Given the description of an element on the screen output the (x, y) to click on. 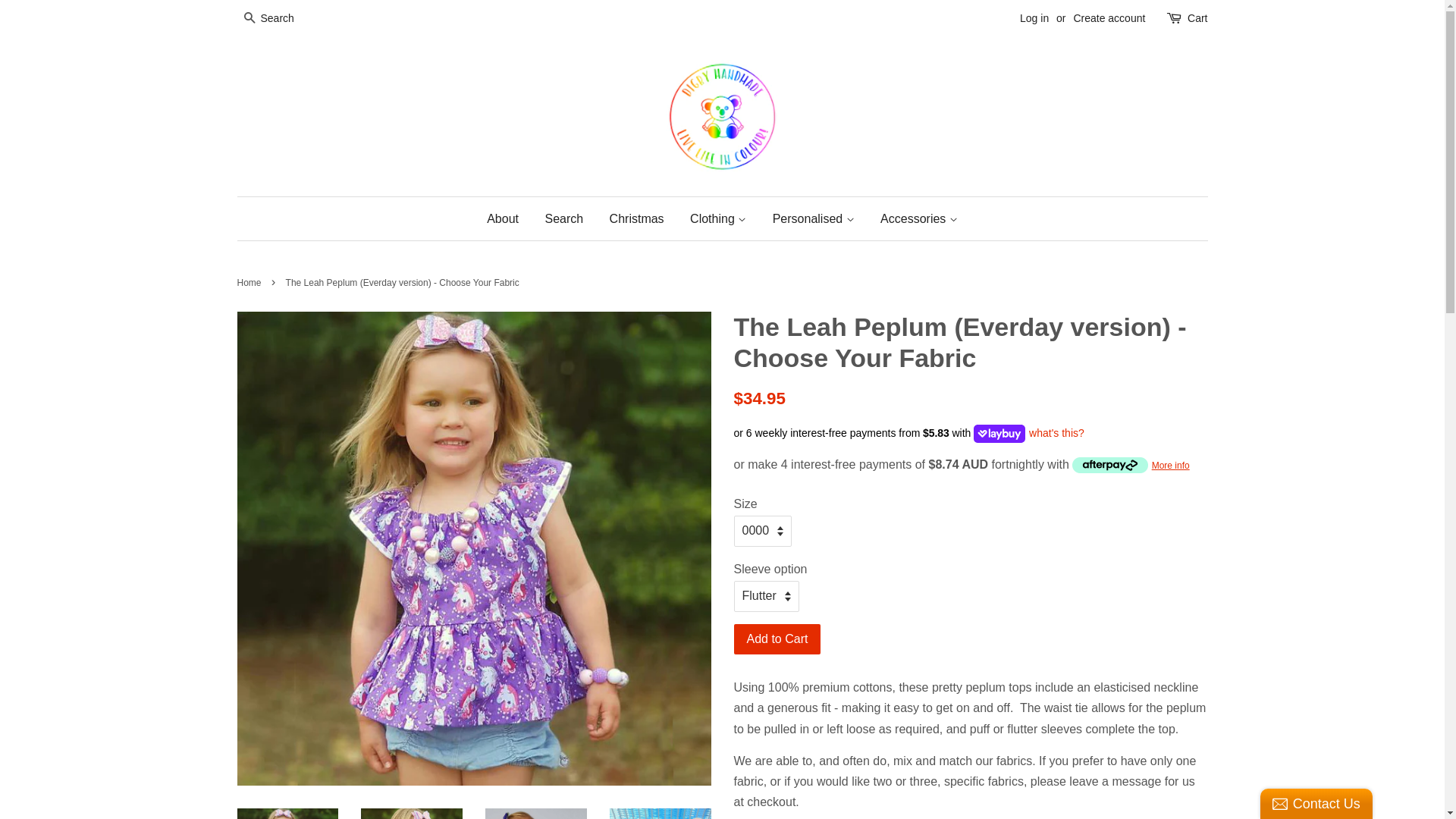
Clothing Element type: text (717, 218)
Personalised Element type: text (813, 218)
Cart Element type: text (1197, 18)
About Element type: text (508, 218)
Search Element type: text (563, 218)
More info Element type: text (1130, 464)
Add to Cart Element type: text (777, 639)
what's this? Element type: text (1054, 433)
Christmas Element type: text (636, 218)
Home Element type: text (250, 282)
Accessories Element type: text (913, 218)
Create account Element type: text (1109, 18)
Log in Element type: text (1033, 18)
Search Element type: text (248, 18)
